Given the description of an element on the screen output the (x, y) to click on. 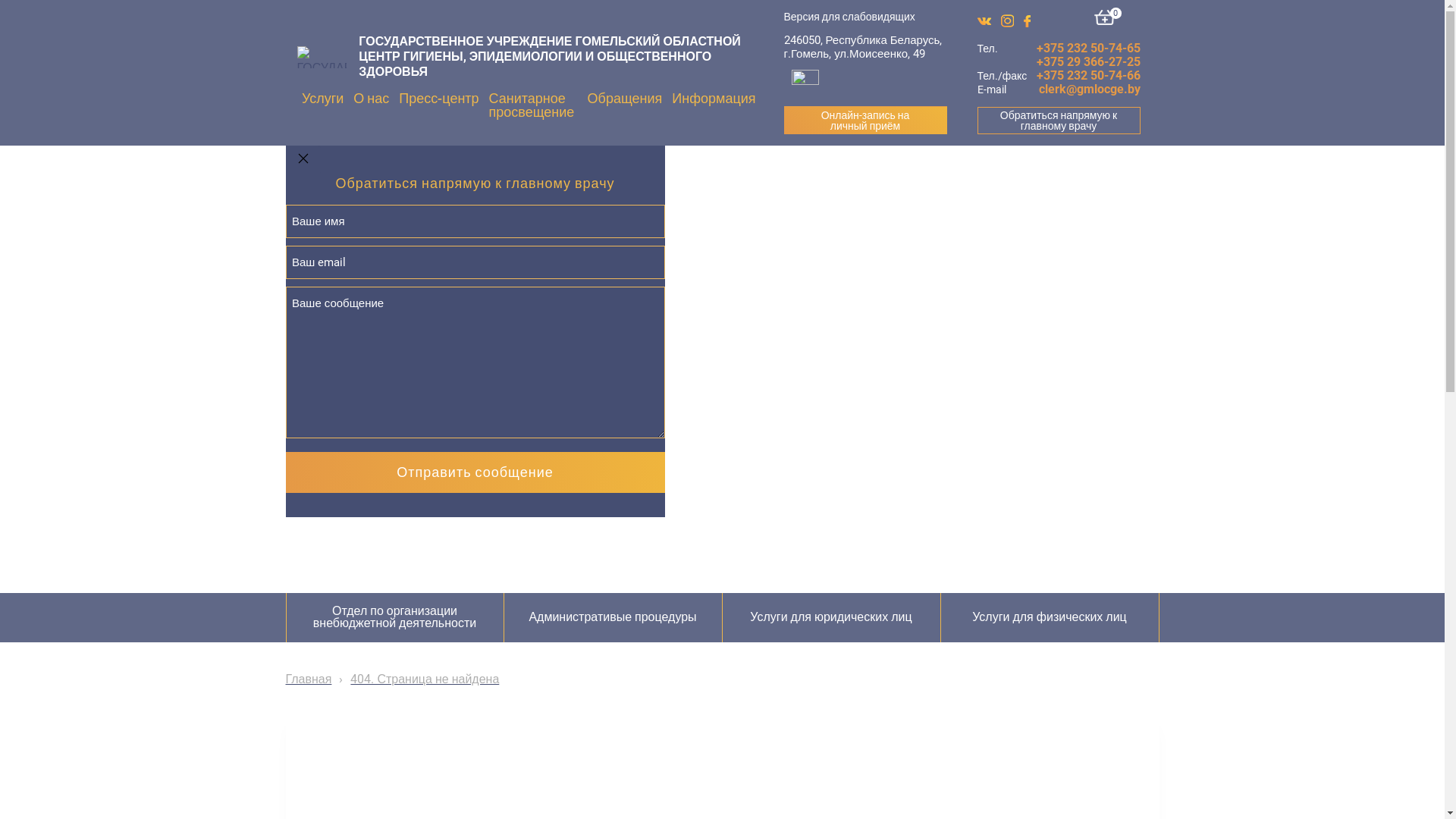
+375 232 50-74-66 Element type: text (1087, 75)
+375 29 366-27-25 Element type: text (1087, 62)
+375 232 50-74-65 Element type: text (1087, 48)
0 Element type: text (1107, 17)
clerk@gmlocge.by Element type: text (1089, 89)
